Given the description of an element on the screen output the (x, y) to click on. 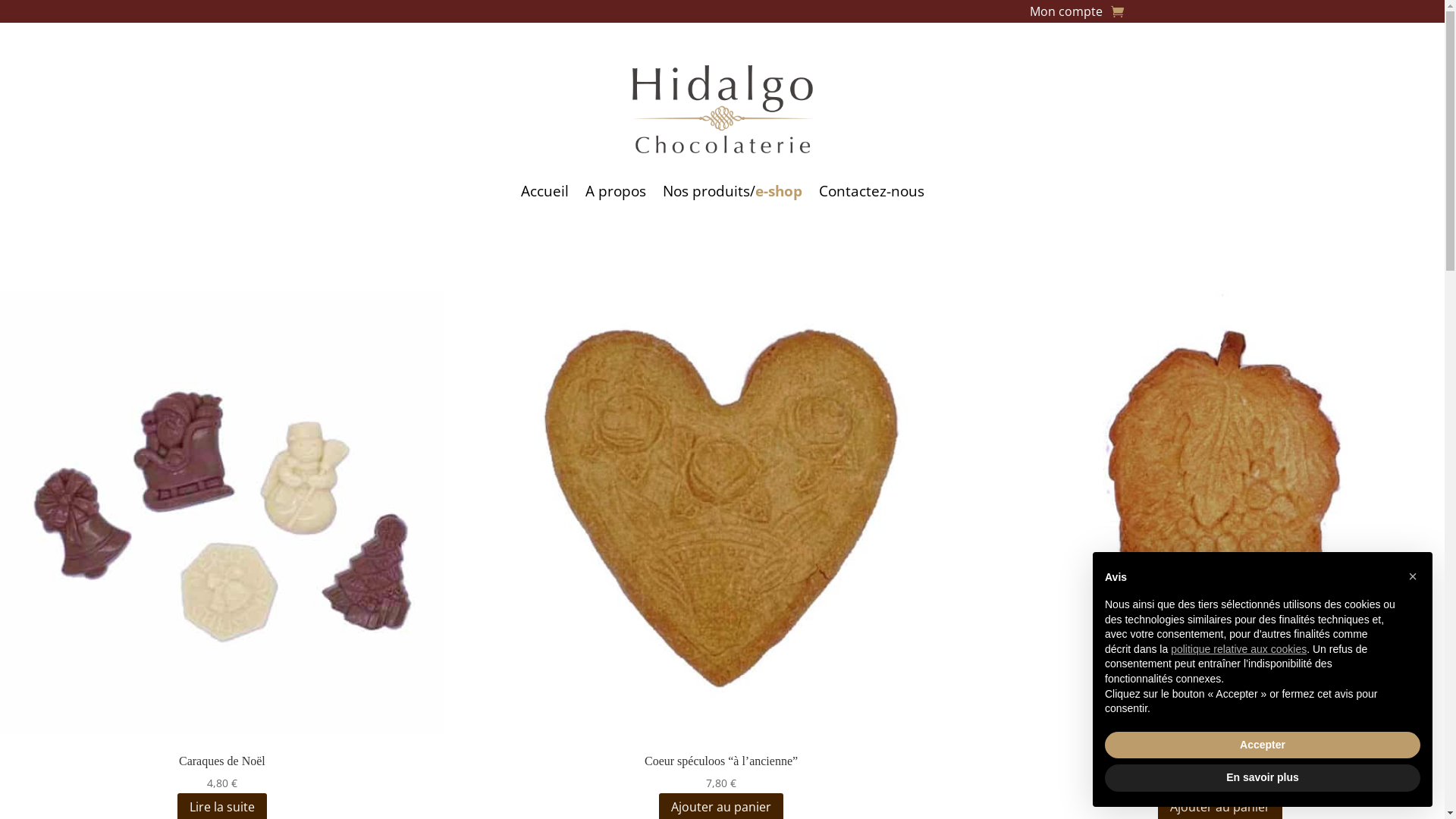
A propos Element type: text (615, 191)
En savoir plus Element type: text (1262, 777)
Contactez-nous Element type: text (871, 191)
Accueil Element type: text (543, 191)
Accepter Element type: text (1262, 745)
Nos produits/
e-shop Element type: text (732, 191)
Mon compte Element type: text (1065, 14)
politique relative aux cookies Element type: text (1238, 649)
